Given the description of an element on the screen output the (x, y) to click on. 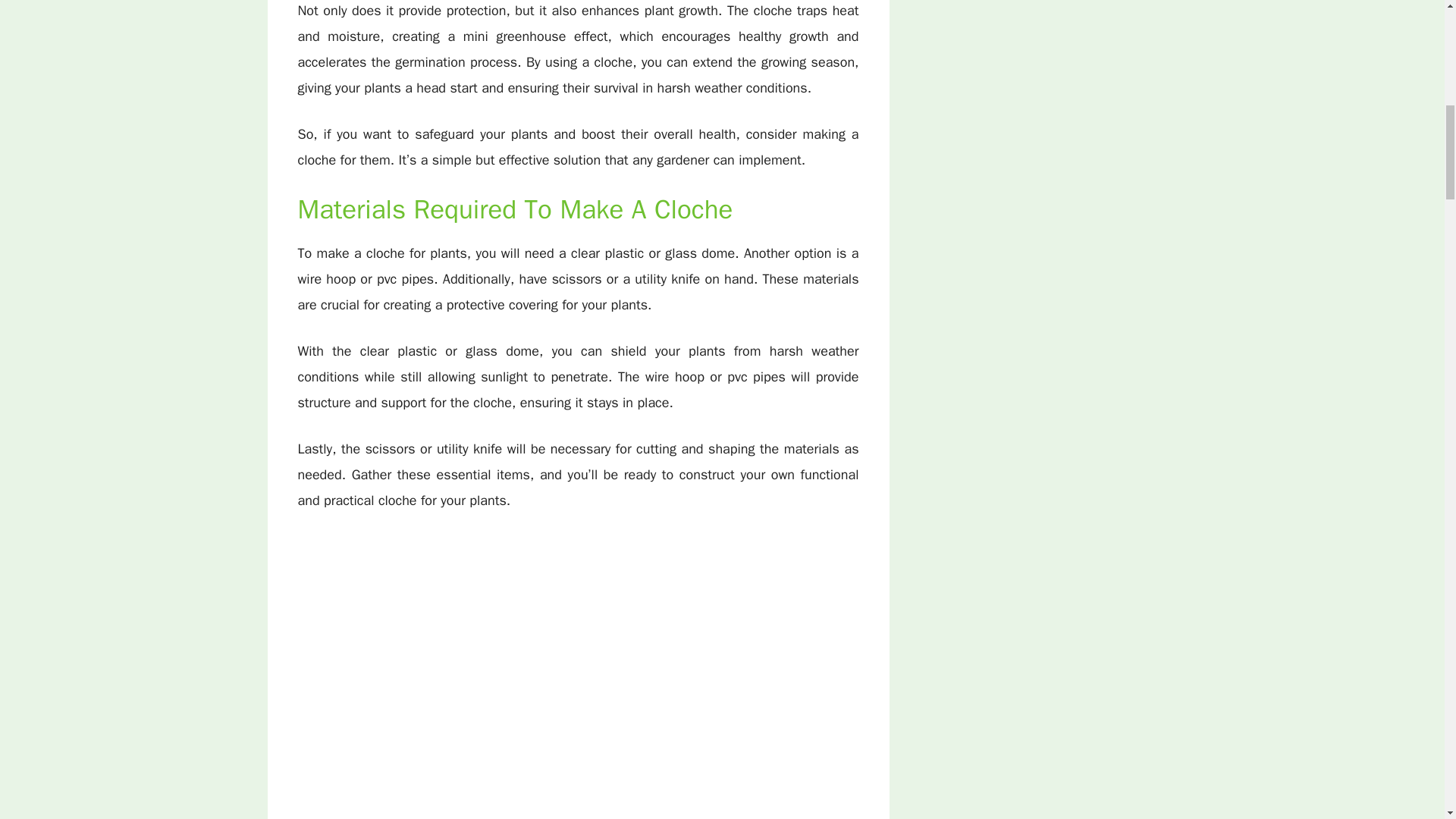
Scroll back to top (1406, 720)
